Given the description of an element on the screen output the (x, y) to click on. 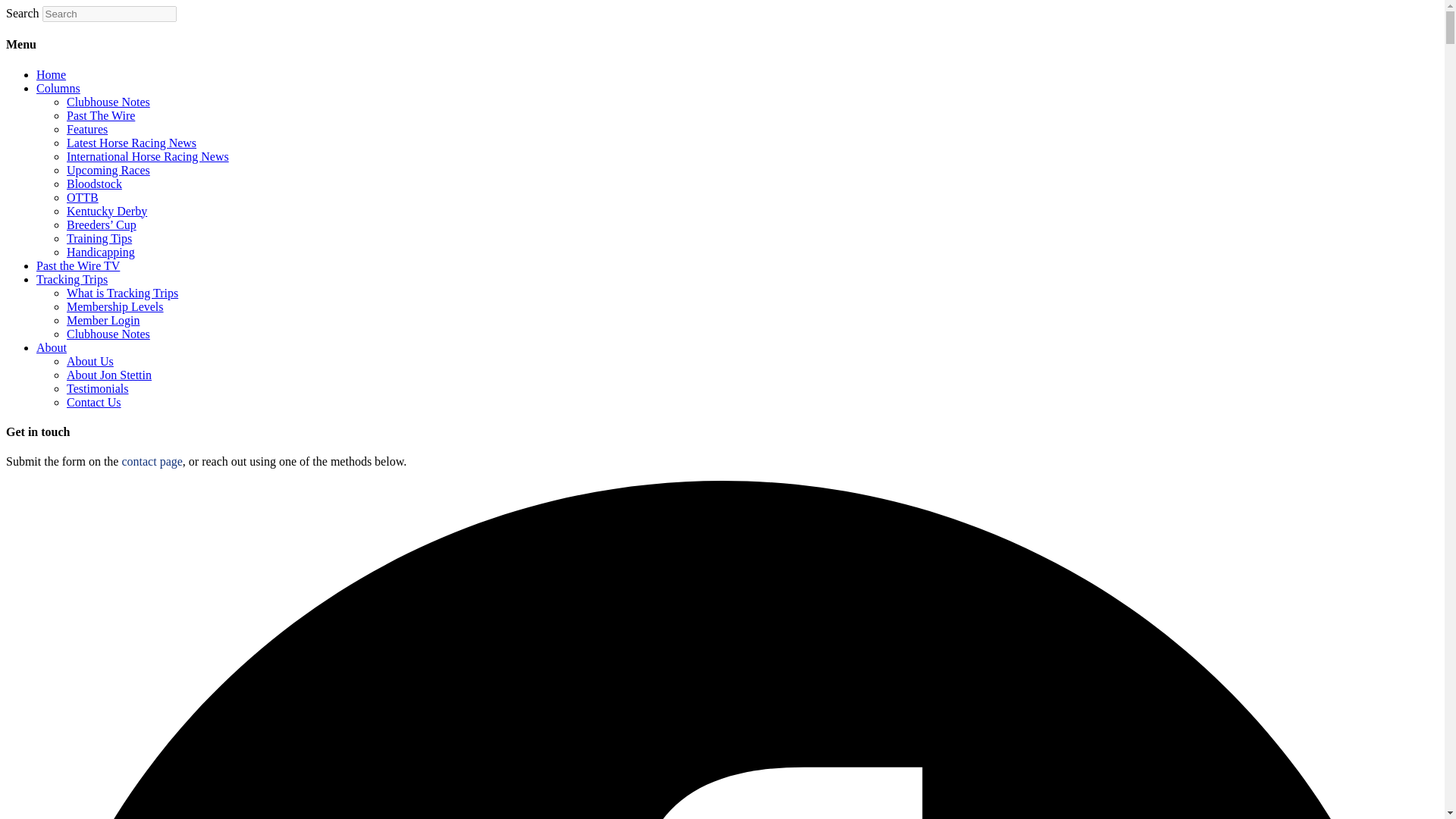
Past The Wire (100, 115)
Home (50, 74)
Tracking Trips (71, 278)
Bloodstock (94, 183)
Past the Wire TV (77, 265)
Columns (58, 88)
Upcoming Races (107, 169)
What is Tracking Trips (121, 292)
Clubhouse Notes (107, 101)
About (51, 347)
Contact Us (93, 401)
Testimonials (97, 388)
Handicapping (100, 251)
OTTB (82, 196)
Kentucky Derby (106, 210)
